Given the description of an element on the screen output the (x, y) to click on. 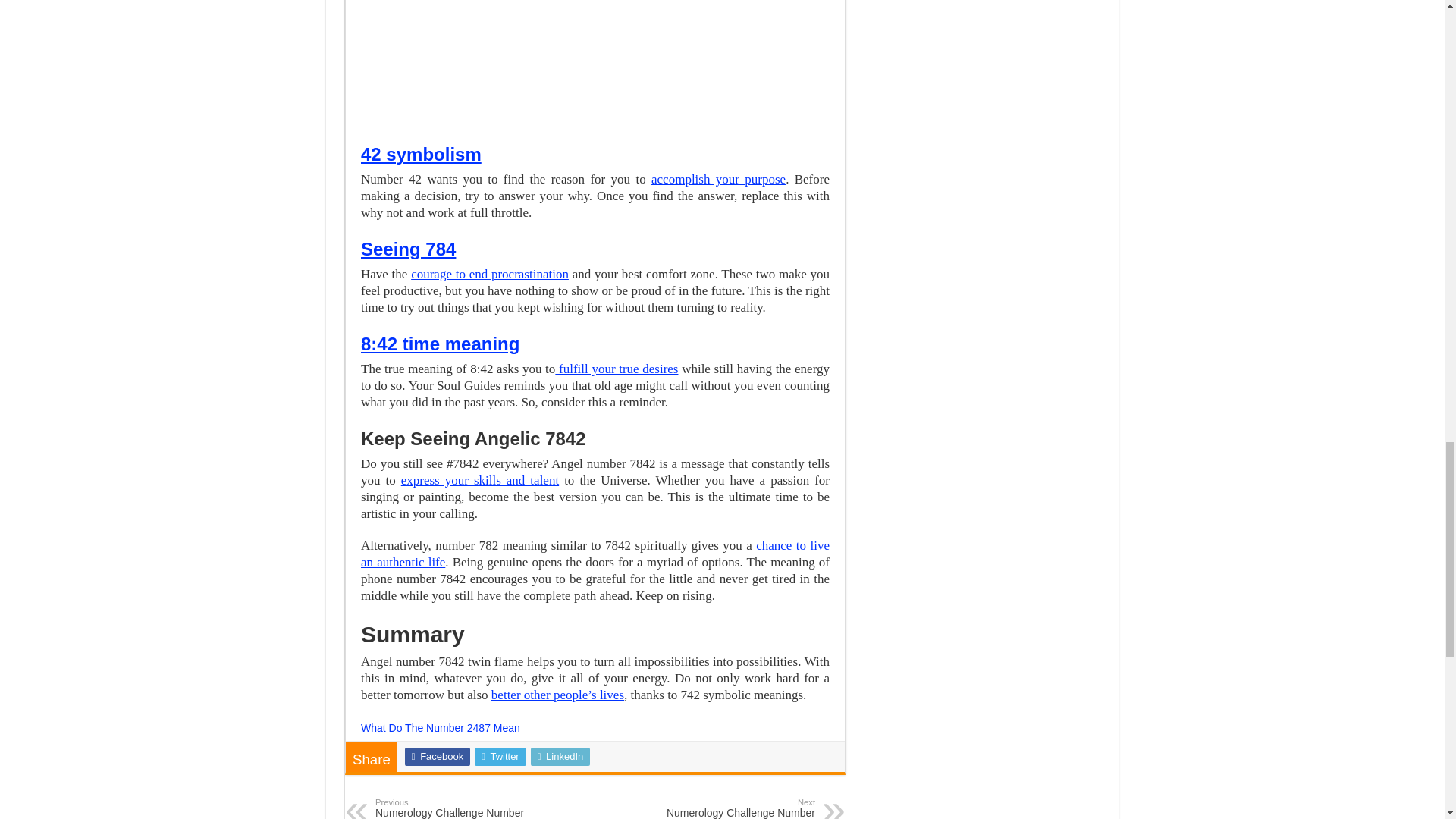
8:42 time meaning (440, 343)
courage to end procrastination (489, 273)
42 symbolism (421, 154)
Seeing 784 (408, 249)
accomplish your purpose (718, 178)
fulfill your true desires (616, 368)
chance to live an authentic life (595, 553)
What Do The Number 2487 Mean (440, 727)
express your skills and talent (480, 480)
